Given the description of an element on the screen output the (x, y) to click on. 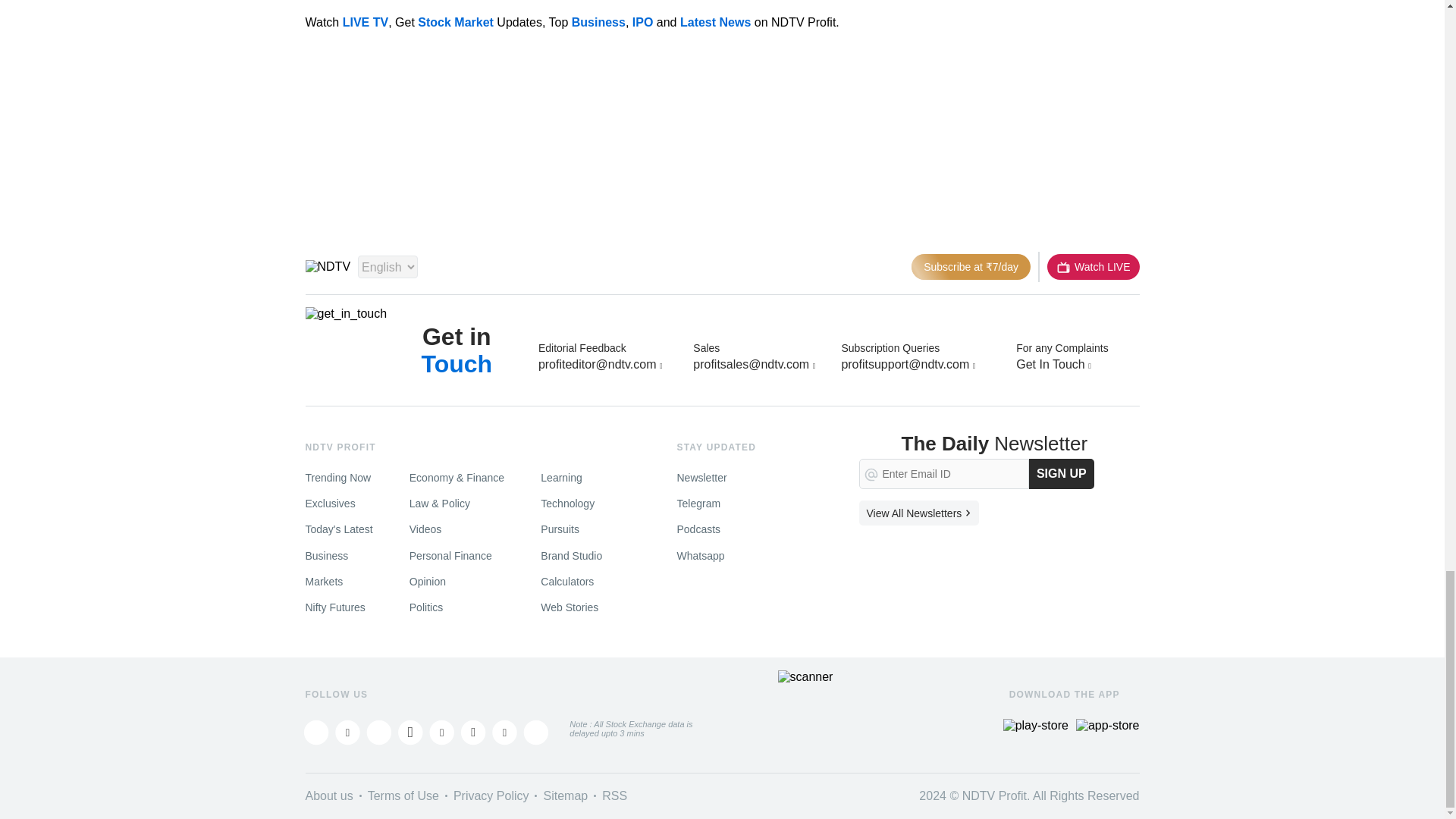
Live TV (1092, 266)
